Given the description of an element on the screen output the (x, y) to click on. 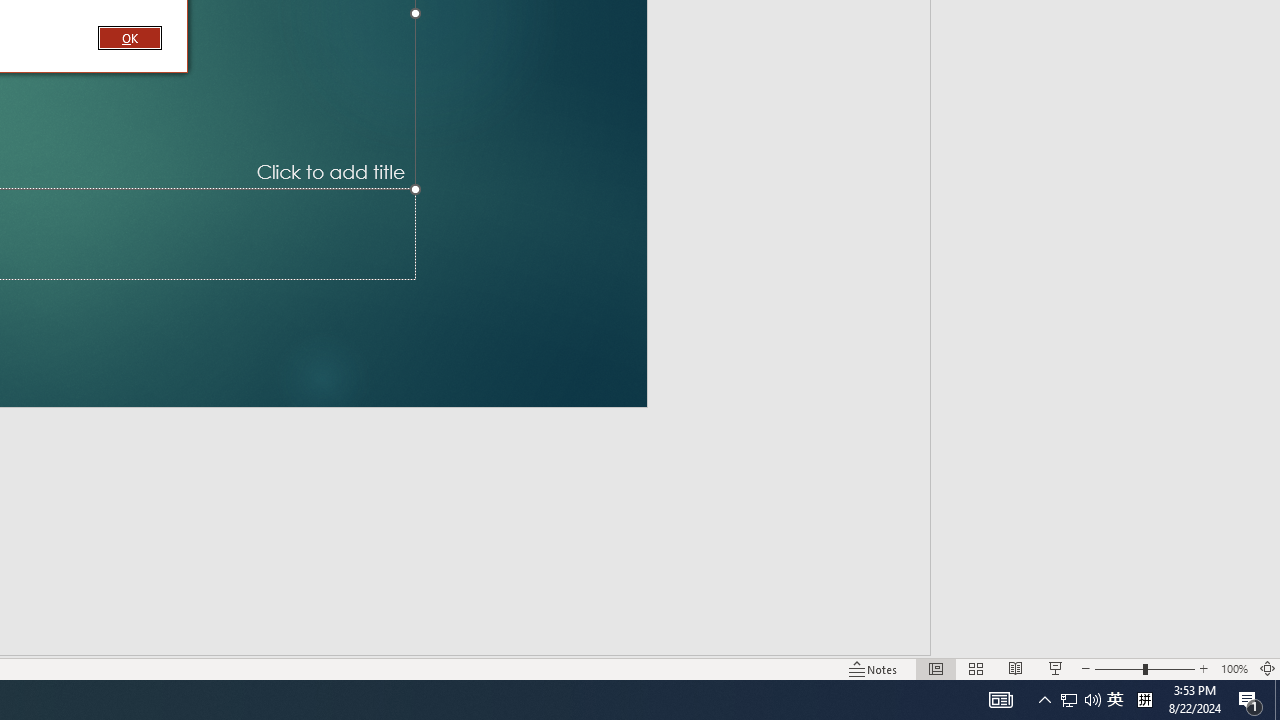
Action Center, 1 new notification (1250, 699)
Zoom 100% (1234, 668)
OK (130, 37)
